Given the description of an element on the screen output the (x, y) to click on. 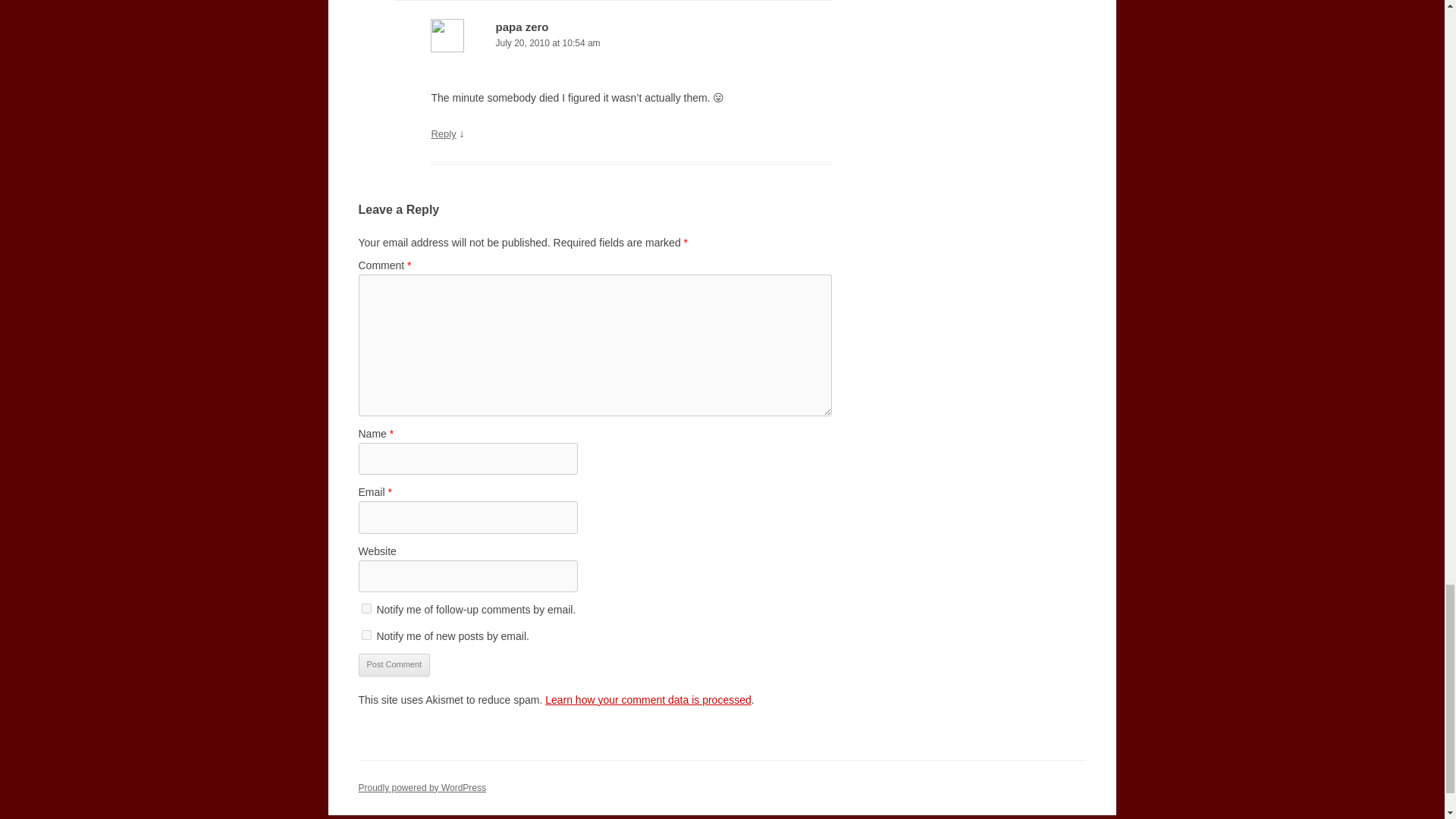
subscribe (366, 608)
subscribe (366, 634)
Post Comment (393, 664)
Semantic Personal Publishing Platform (422, 787)
Learn how your comment data is processed (647, 699)
Post Comment (393, 664)
Reply (442, 133)
July 20, 2010 at 10:54 am (630, 43)
